Given the description of an element on the screen output the (x, y) to click on. 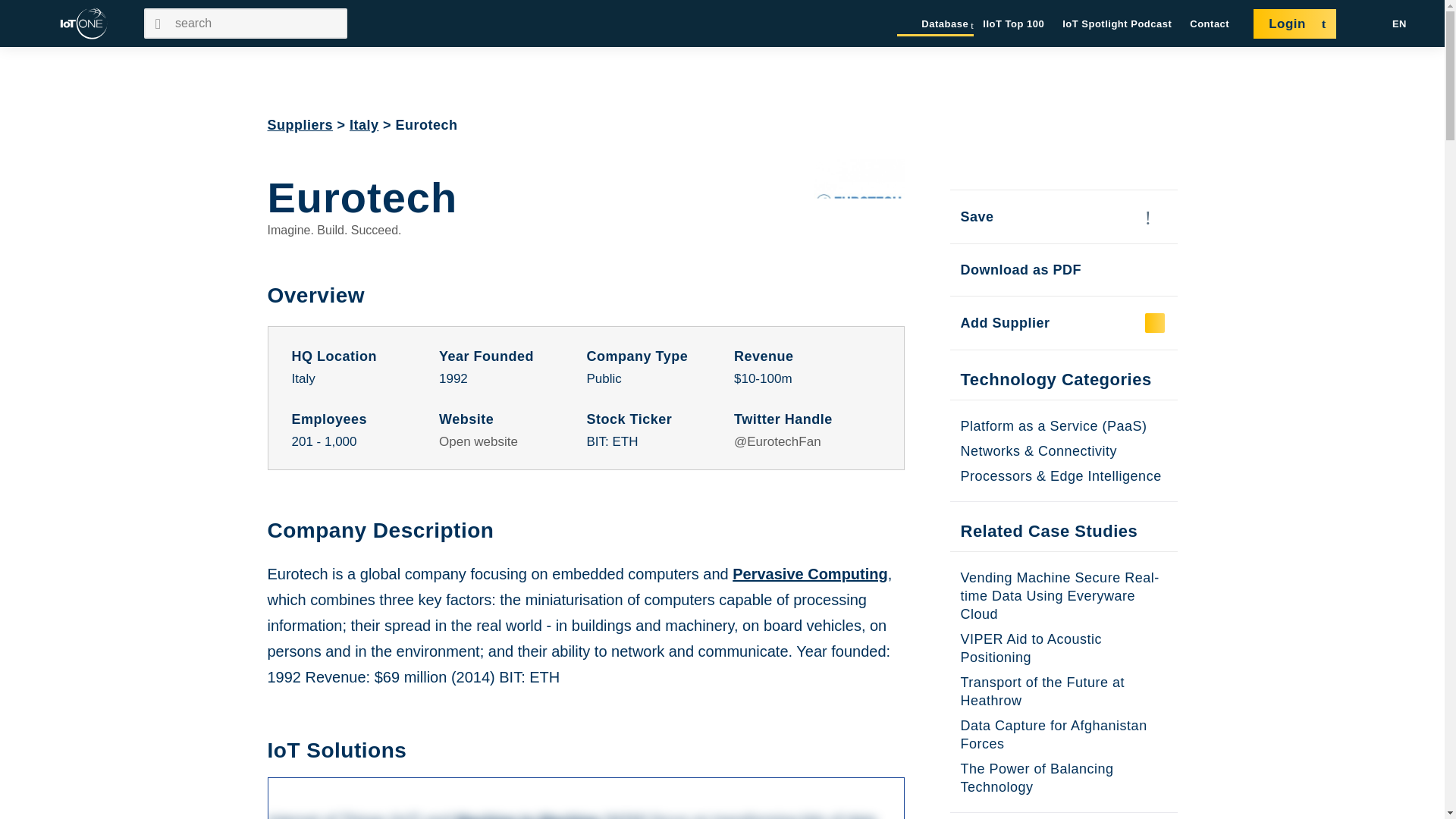
Open website (478, 441)
Suppliers (299, 124)
Eurotech Logo (858, 204)
IoT Spotlight Podcast (1117, 23)
Machine to Machine (527, 816)
IIoT Top 100 (1013, 23)
Italy (363, 124)
Pervasive Computing (810, 573)
Contact (1209, 23)
